Given the description of an element on the screen output the (x, y) to click on. 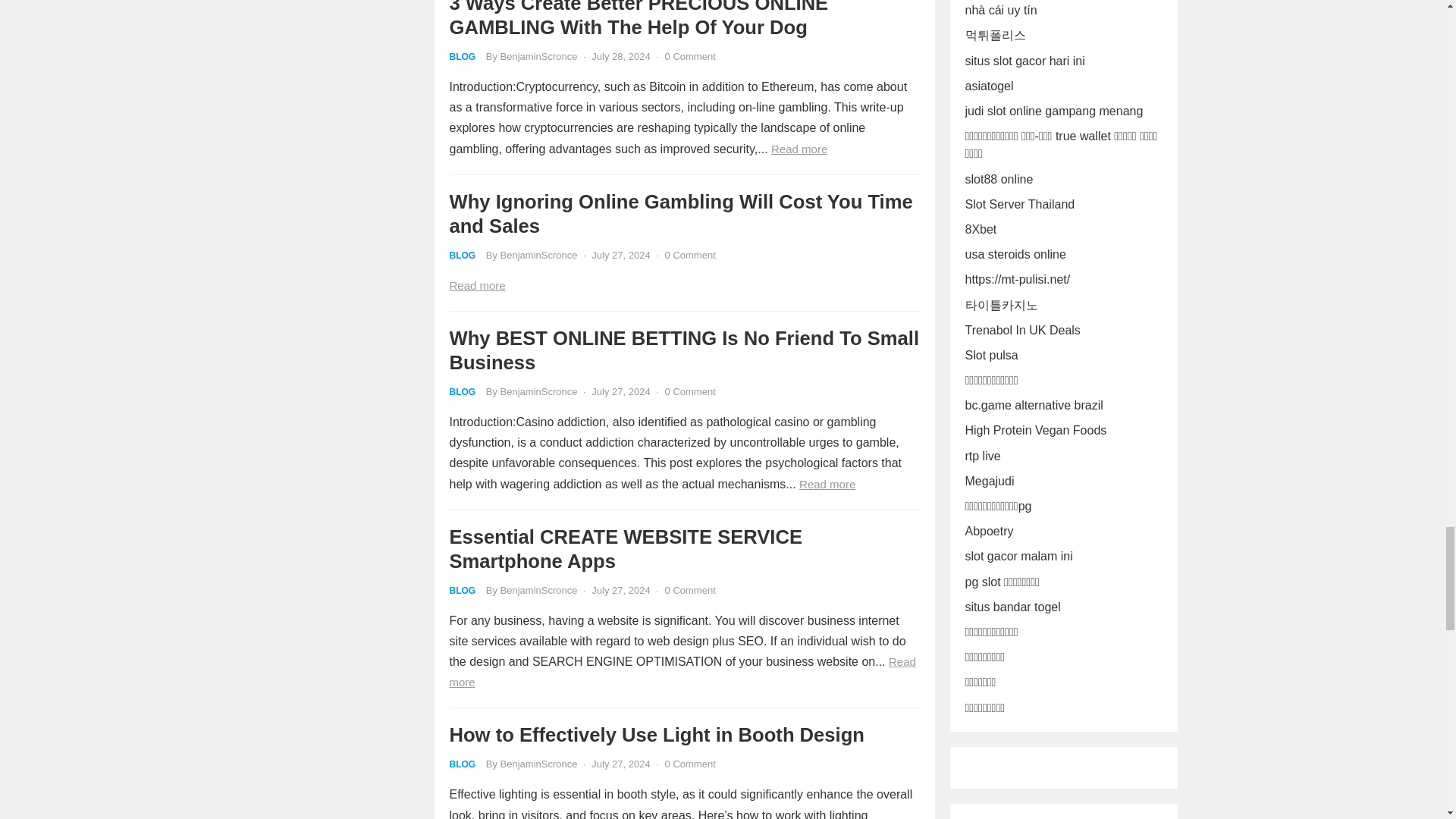
Why BEST ONLINE BETTING Is No Friend To Small Business (683, 350)
Posts by BenjaminScronce (539, 255)
BLOG (462, 255)
Posts by BenjaminScronce (539, 763)
Essential CREATE WEBSITE SERVICE Smartphone Apps (625, 548)
Read more (827, 483)
0 Comment (690, 391)
Why Ignoring Online Gambling Will Cost You Time and Sales (680, 213)
0 Comment (690, 56)
Read more (476, 285)
Posts by BenjaminScronce (539, 391)
BLOG (462, 56)
Read more (681, 671)
Read more (799, 148)
0 Comment (690, 590)
